Given the description of an element on the screen output the (x, y) to click on. 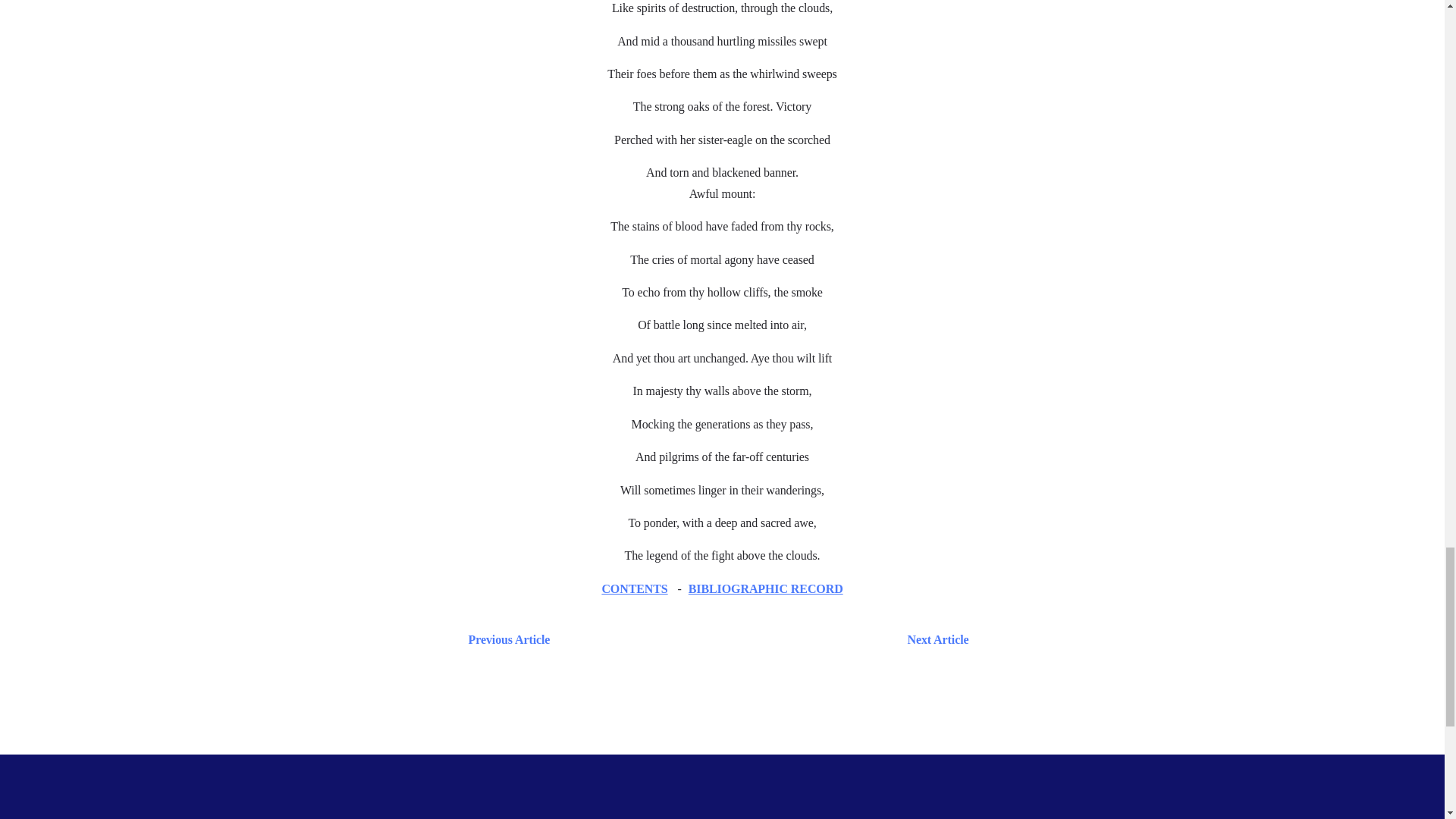
BIBLIOGRAPHIC RECORD (765, 588)
CONTENTS (633, 588)
Previous Article (505, 639)
Next Article (766, 639)
